Given the description of an element on the screen output the (x, y) to click on. 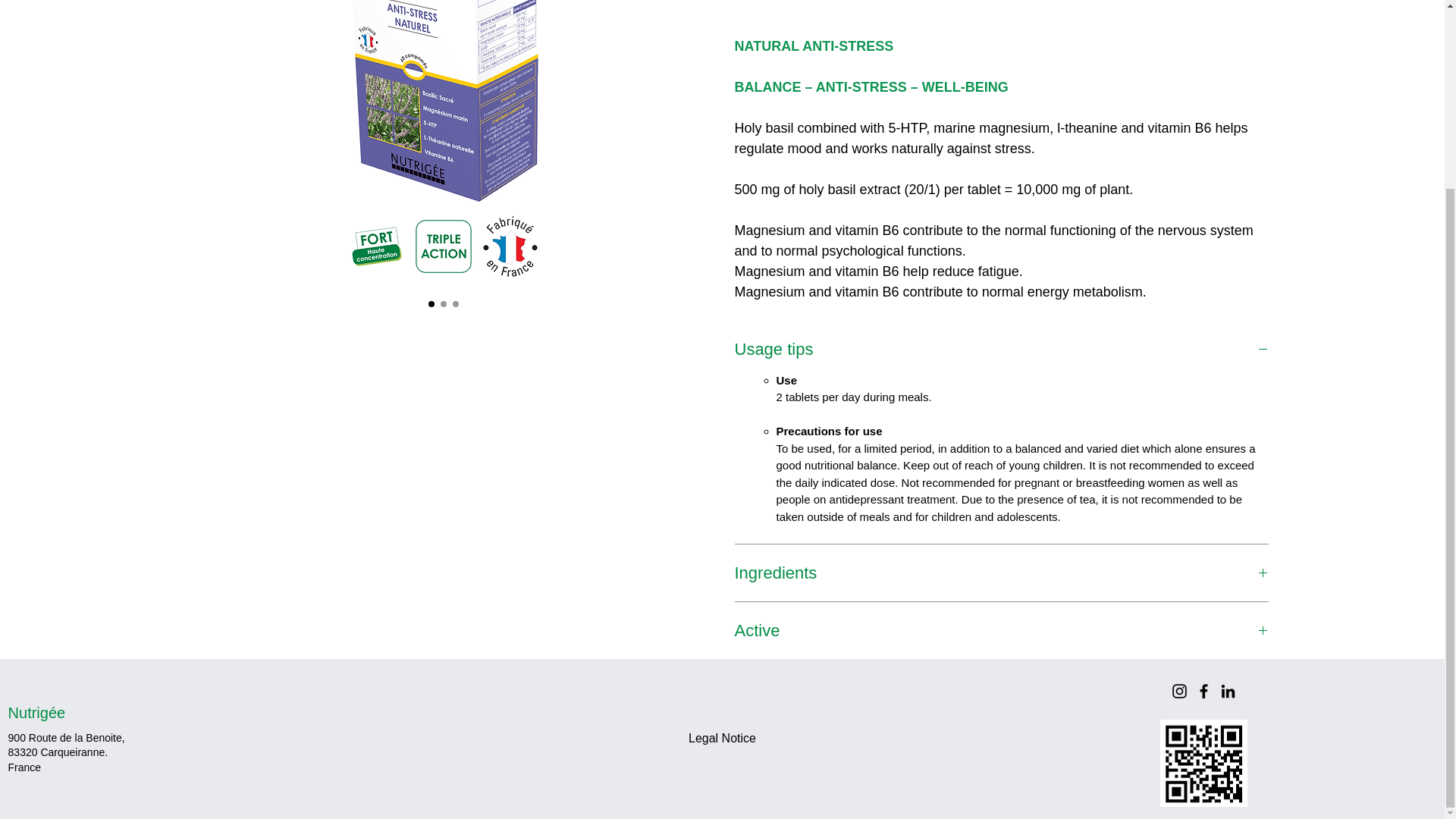
Ingredients (1000, 572)
Active (1000, 629)
Legal Notice (721, 738)
Usage tips (1000, 349)
